Given the description of an element on the screen output the (x, y) to click on. 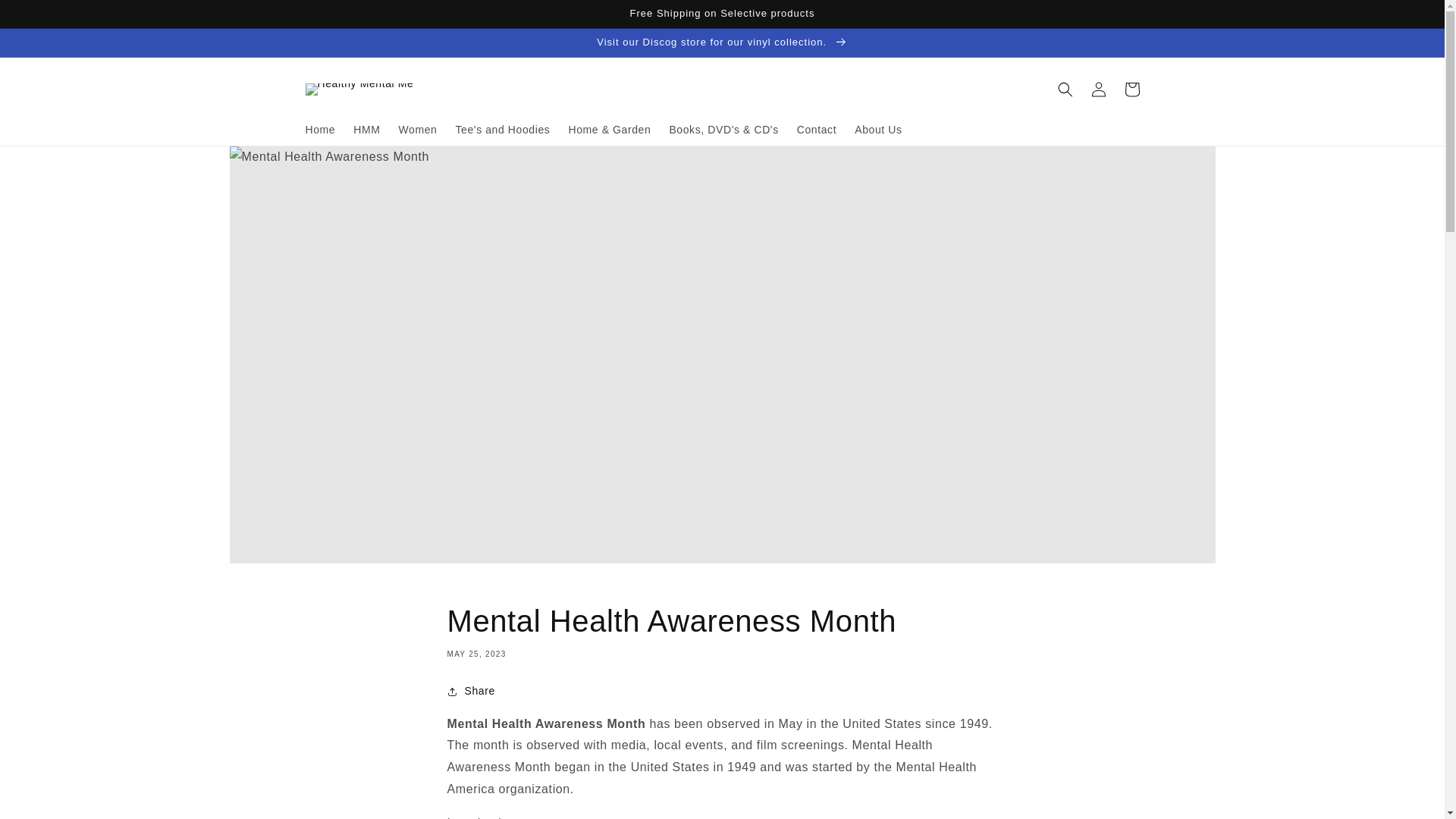
Contact (816, 129)
Cart (1131, 89)
Home (319, 129)
Log in (1098, 89)
Tee's and Hoodies (502, 129)
Skip to content (45, 17)
Women (418, 129)
About Us (878, 129)
HMM (365, 129)
